Given the description of an element on the screen output the (x, y) to click on. 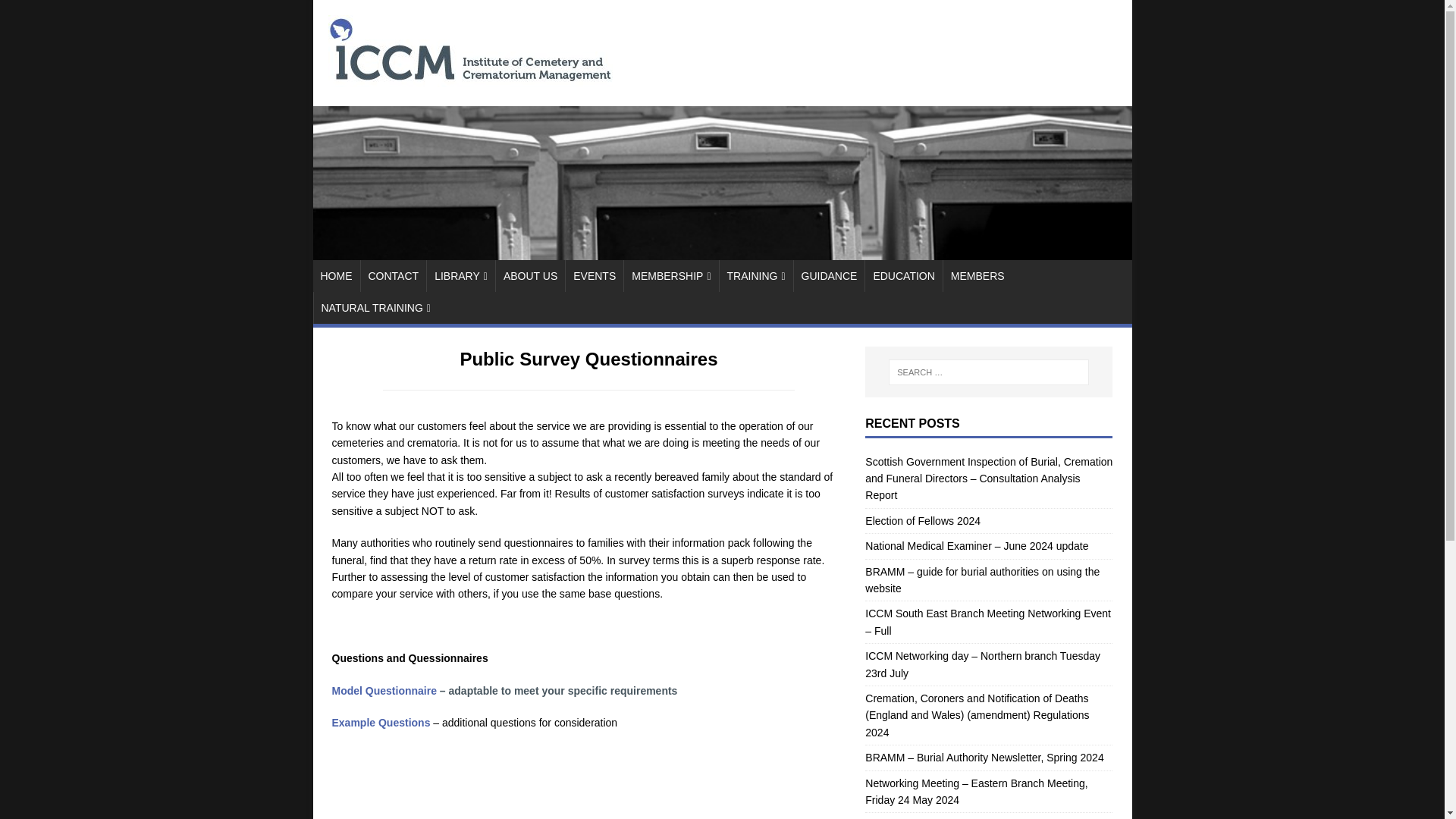
CONTACT (392, 275)
EVENTS (593, 275)
HOME (336, 275)
MEMBERSHIP (670, 275)
LIBRARY (460, 275)
ABOUT US (529, 275)
